Given the description of an element on the screen output the (x, y) to click on. 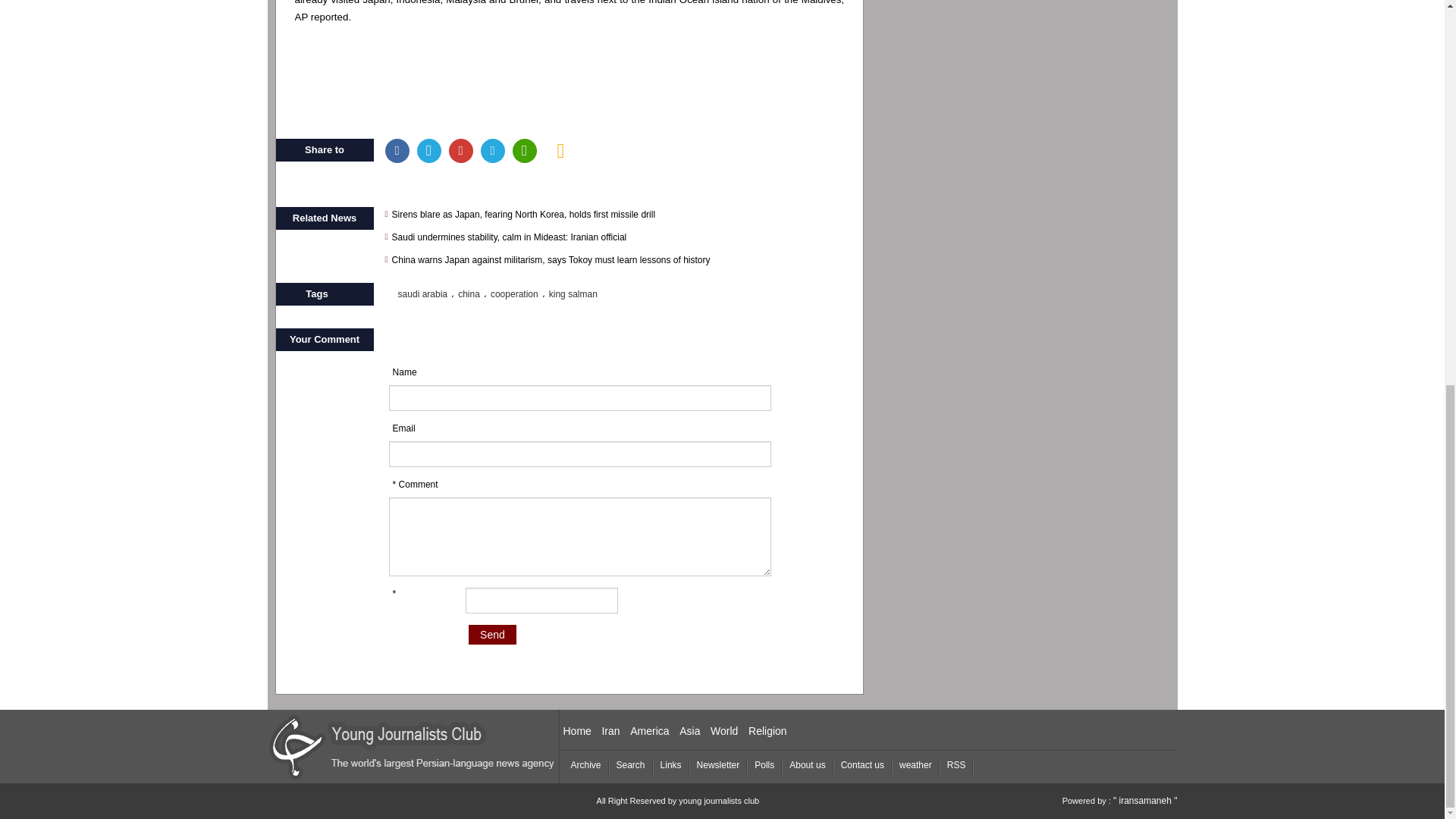
news error report (560, 150)
Send (492, 634)
